Given the description of an element on the screen output the (x, y) to click on. 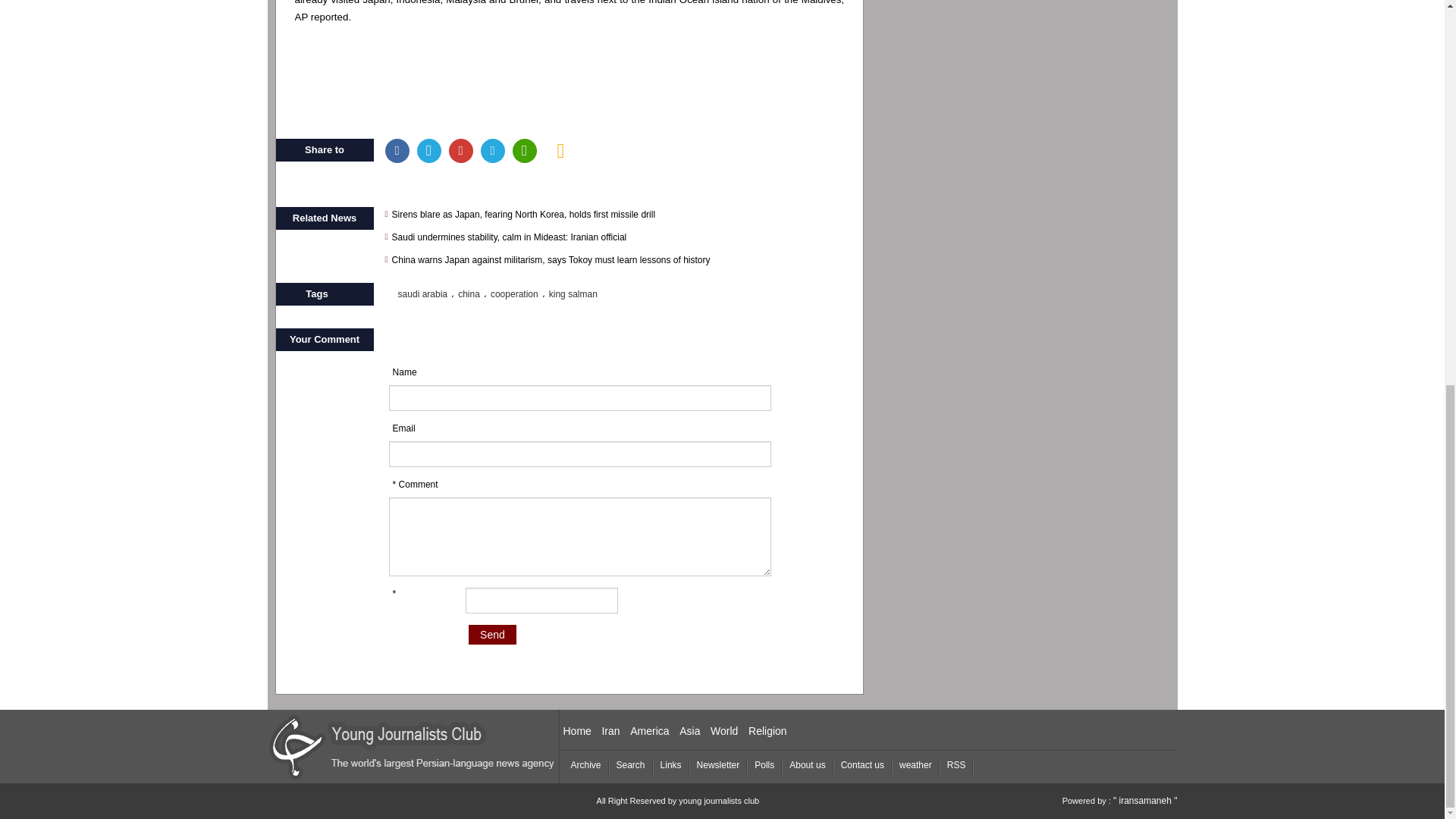
news error report (560, 150)
Send (492, 634)
